Given the description of an element on the screen output the (x, y) to click on. 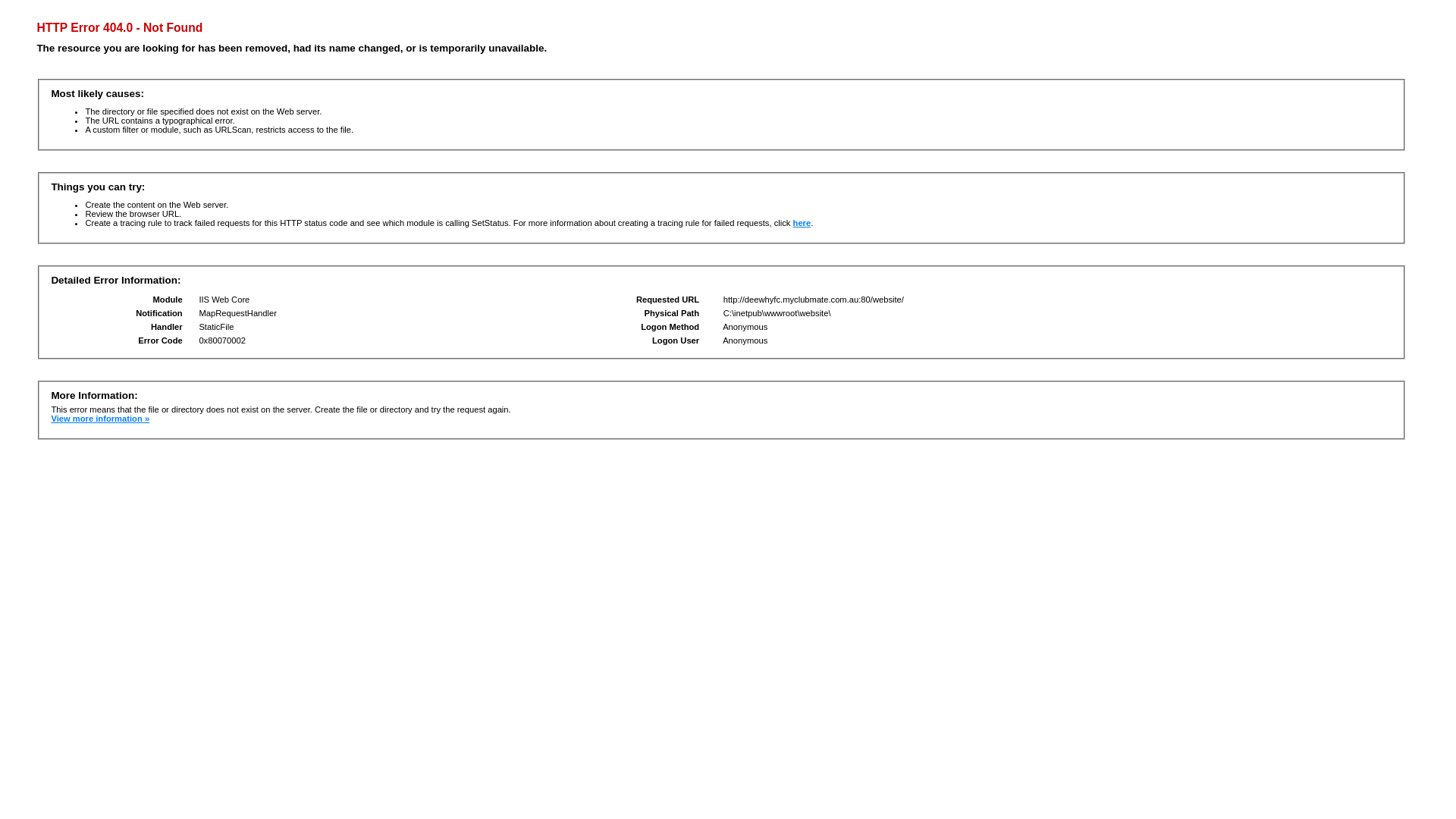
here Element type: text (802, 222)
